Given the description of an element on the screen output the (x, y) to click on. 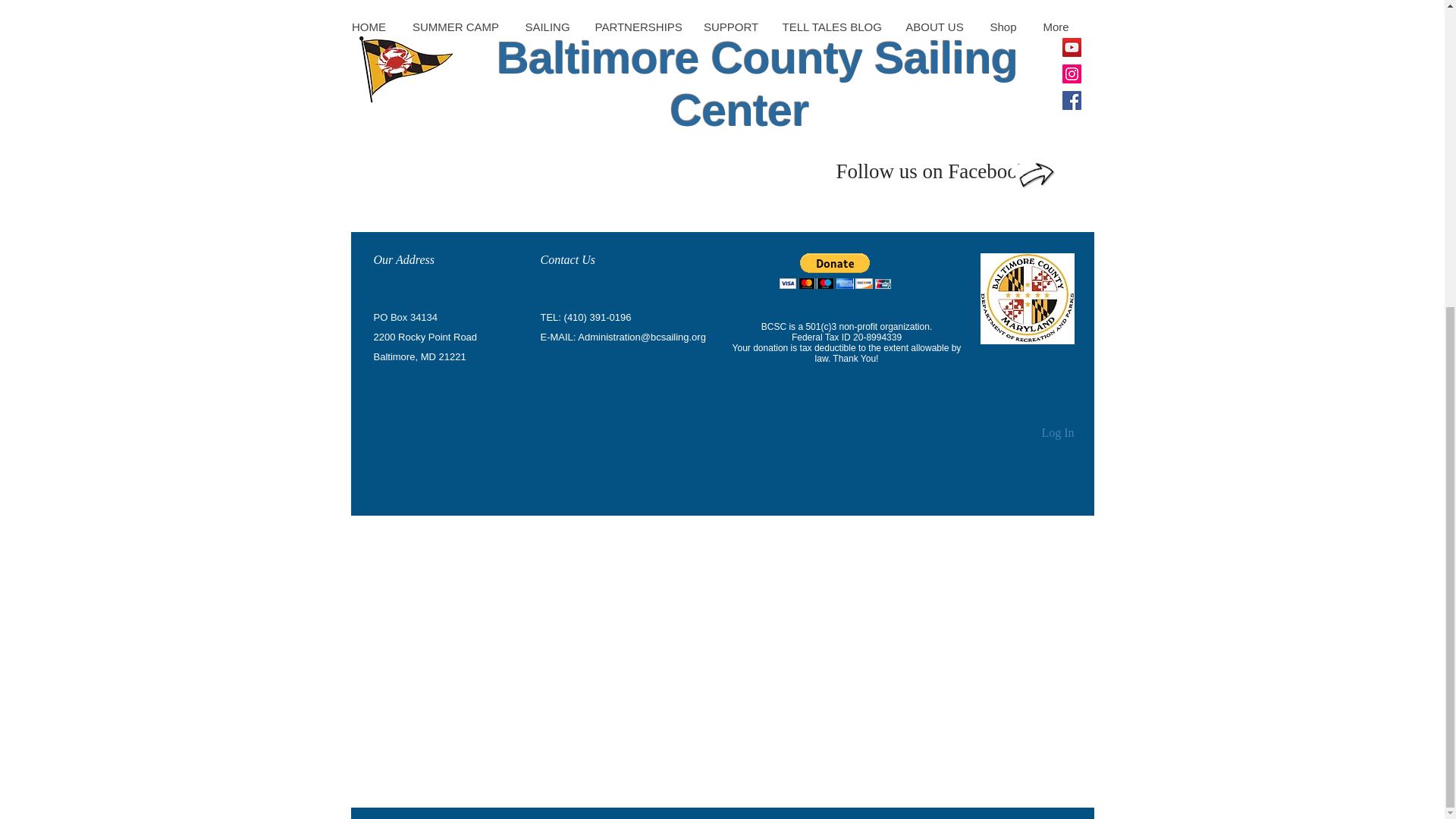
Go Back Home (721, 67)
